Given the description of an element on the screen output the (x, y) to click on. 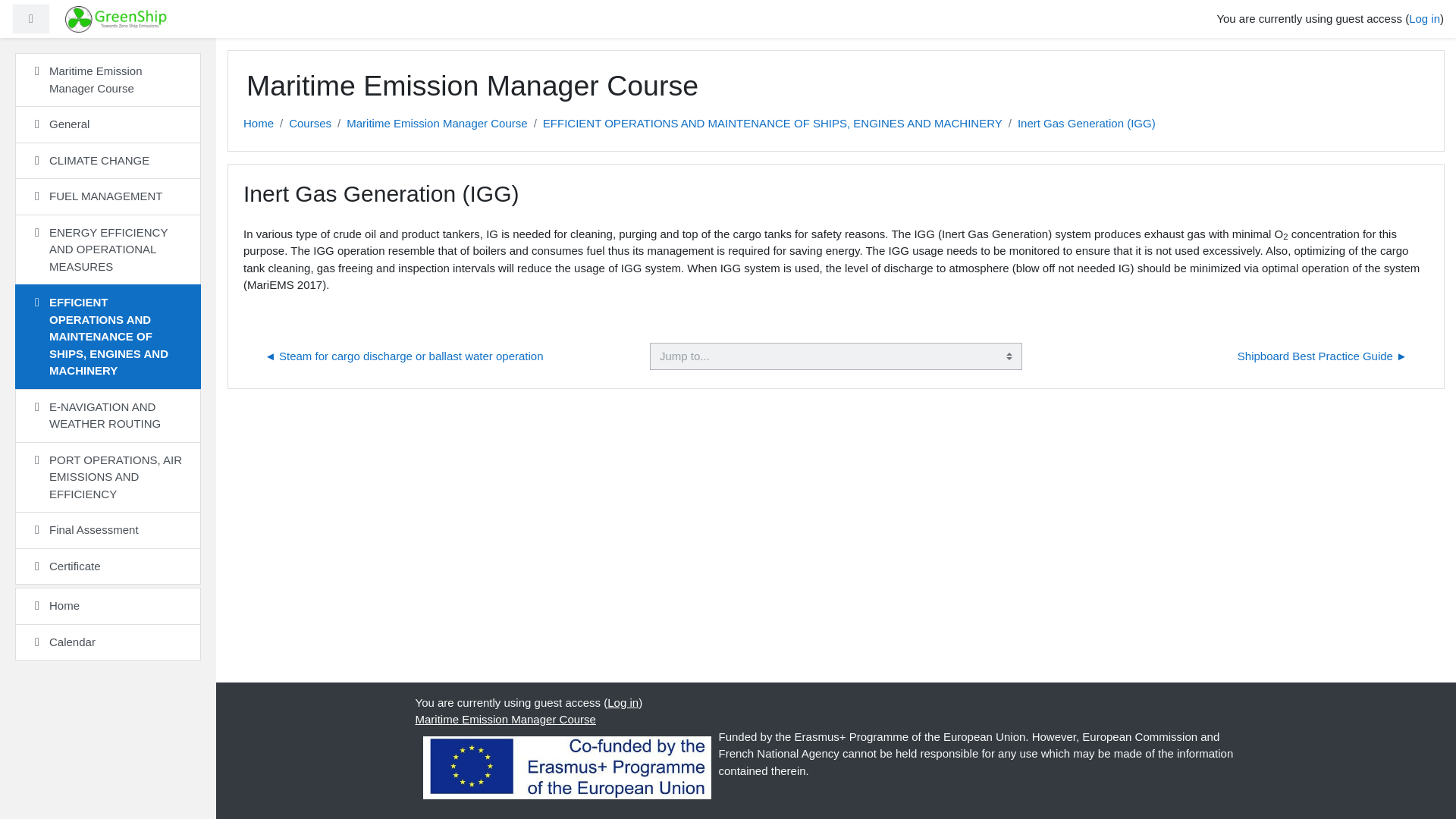
General (107, 124)
Final Assessment (107, 529)
Courses (309, 123)
Home (107, 606)
E-NAVIGATION AND WEATHER ROUTING (107, 415)
Side panel (30, 19)
Maritime Emission Manager Course (436, 123)
Maritime Emission Manager Course (107, 80)
FUEL MANAGEMENT (107, 196)
